Given the description of an element on the screen output the (x, y) to click on. 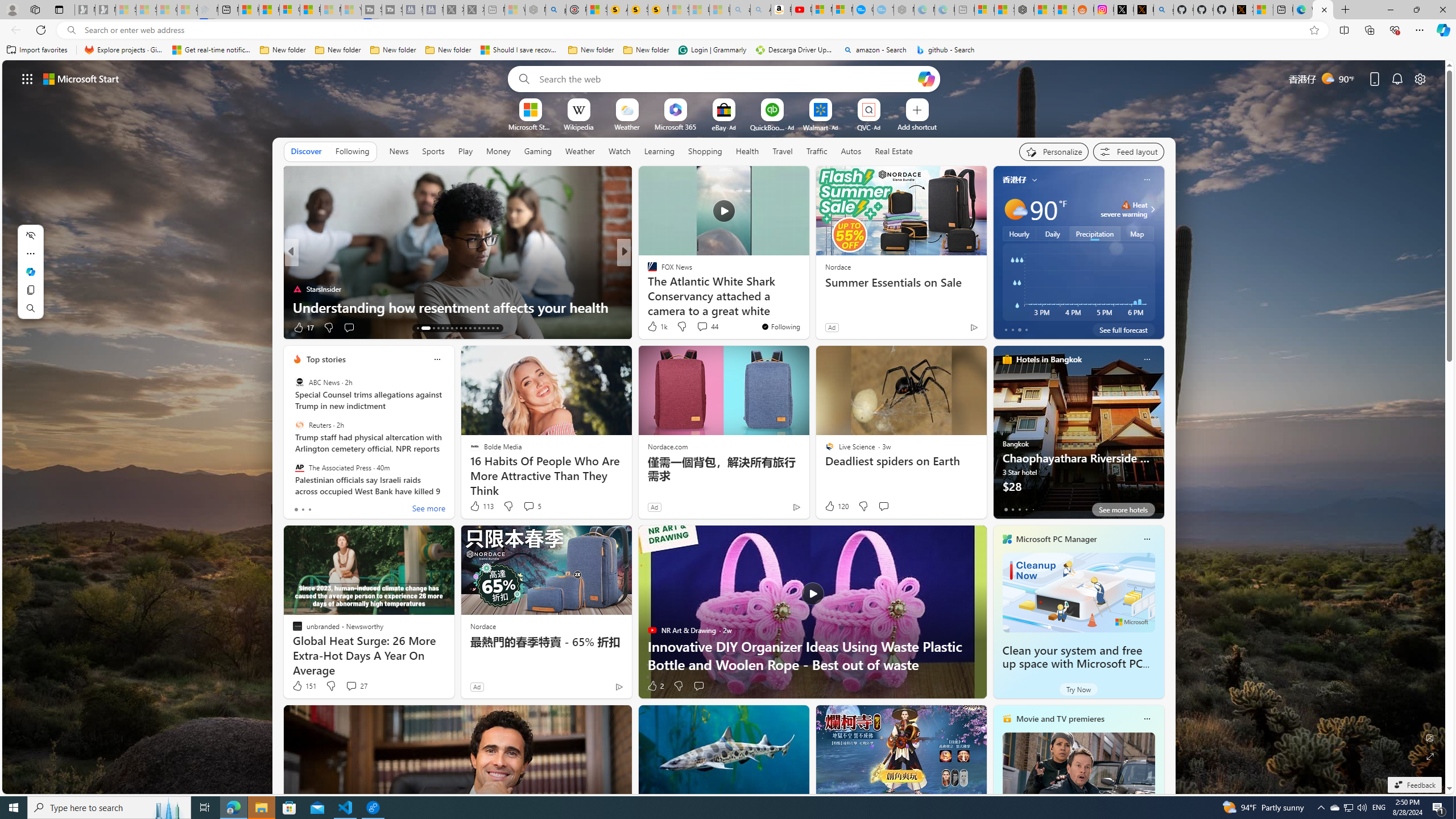
Travel (782, 151)
Gaming (537, 151)
Import favorites (36, 49)
Log in to X / X (1123, 9)
github - Search (1162, 9)
Copy (30, 289)
